Given the description of an element on the screen output the (x, y) to click on. 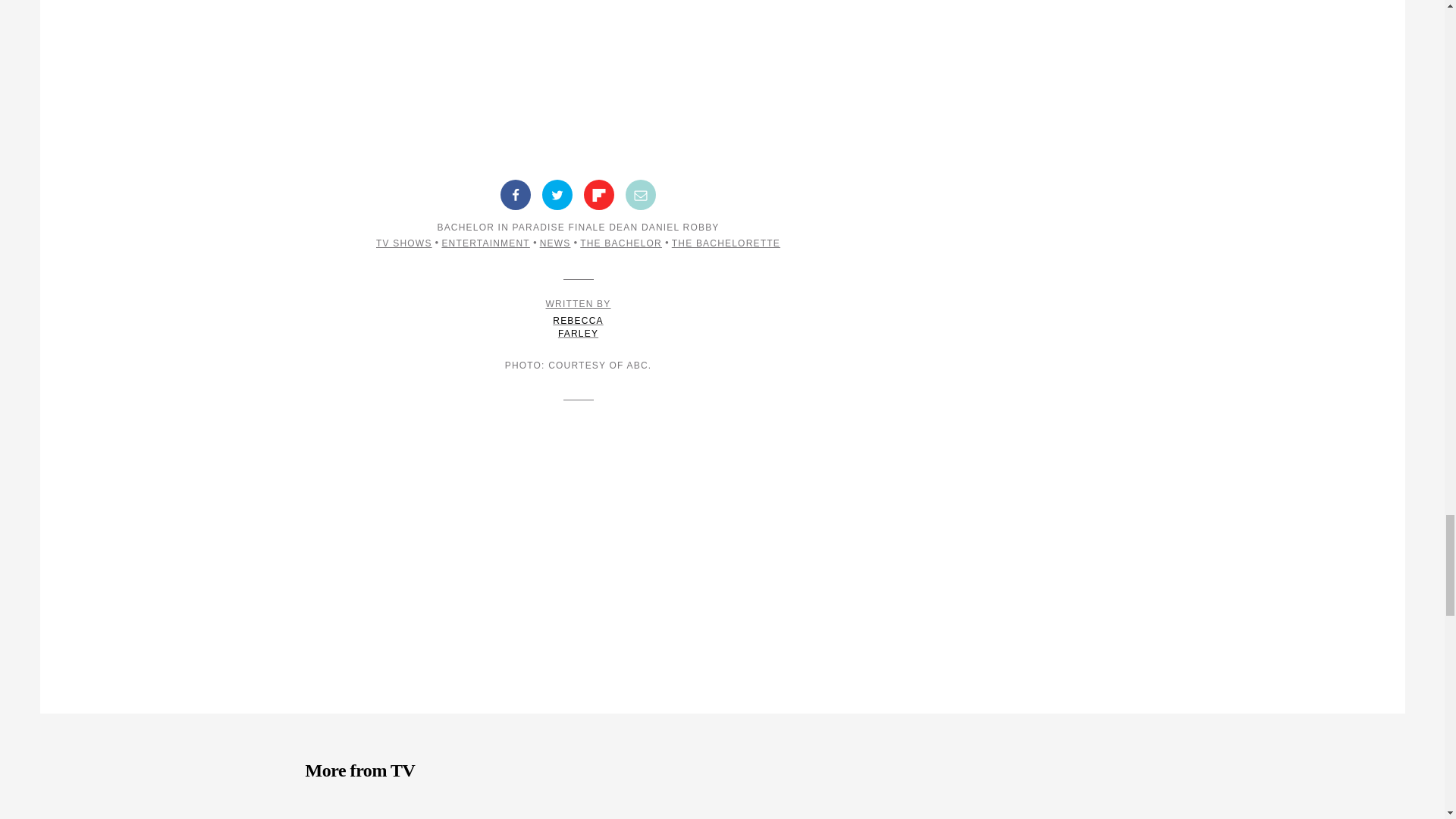
TV SHOWS (403, 243)
Share on Flipboard (598, 194)
Share on Twitter (556, 194)
Share by Email (641, 194)
ENTERTAINMENT (485, 243)
NEWS (555, 243)
